Given the description of an element on the screen output the (x, y) to click on. 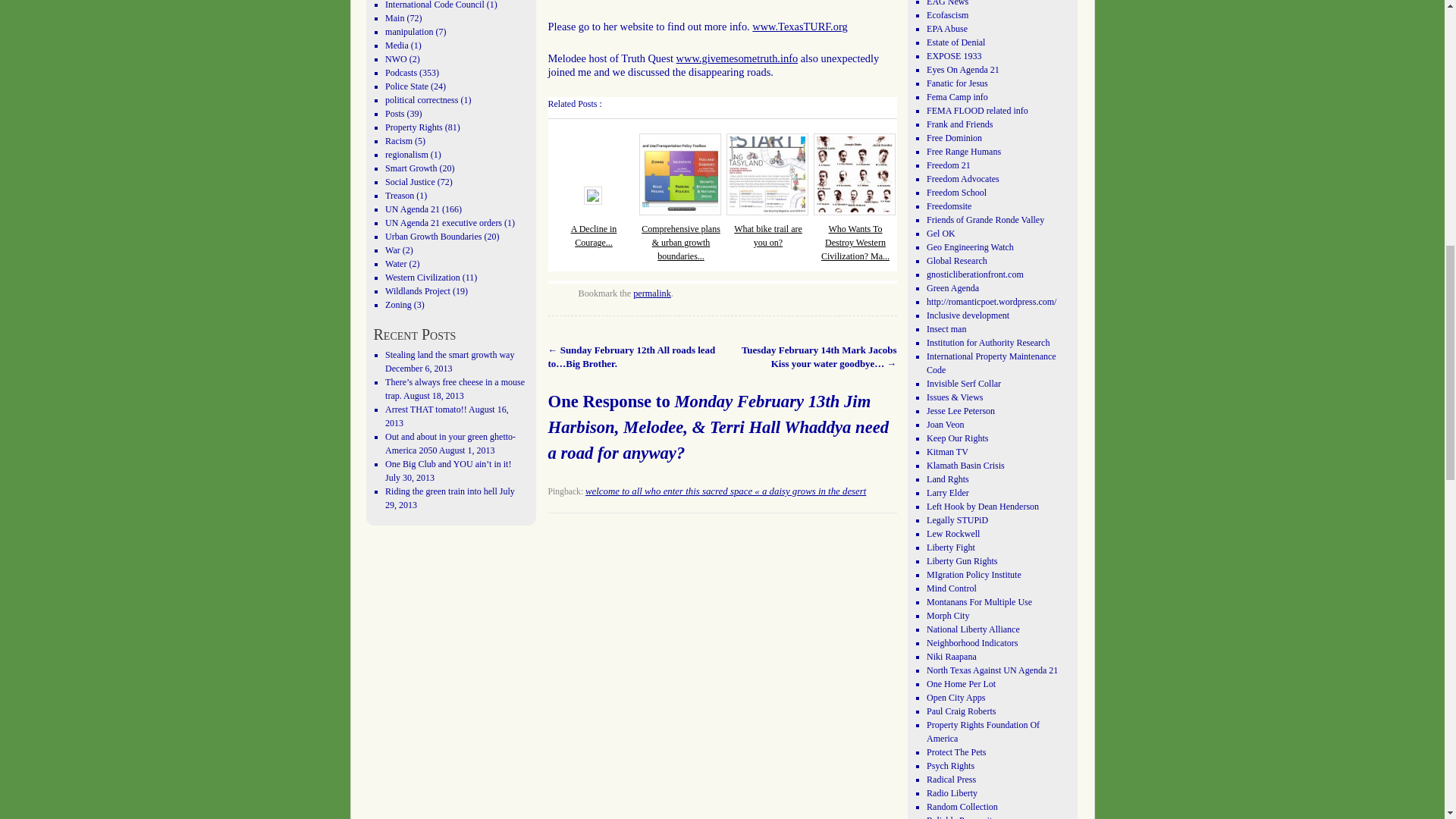
Who Wants To Destroy Western Civilization? Ma... (855, 242)
What bike trail are you on? (767, 235)
A Decline in Courage... (593, 235)
www.givemesometruth.info (737, 58)
www.TexasTURF.org (799, 26)
